Given the description of an element on the screen output the (x, y) to click on. 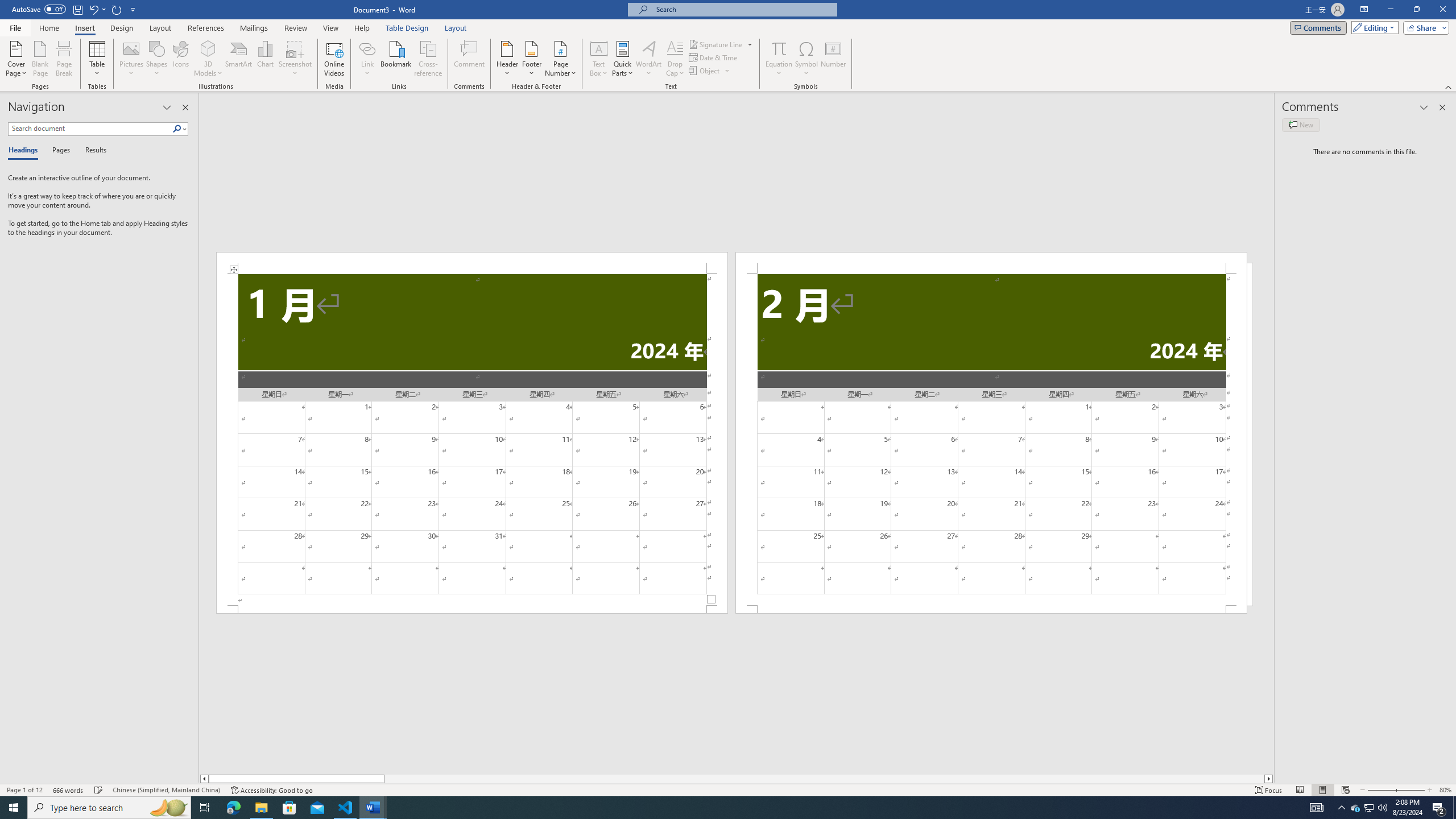
Cover Page (16, 58)
Share (1423, 27)
Column right (1268, 778)
Link (367, 58)
Table Design (407, 28)
Screenshot (295, 58)
Blank Page (40, 58)
Column left (203, 778)
Close (1442, 9)
Cross-reference... (428, 58)
Minimize (1390, 9)
Signature Line (721, 44)
Undo Increase Indent (96, 9)
Quick Access Toolbar (74, 9)
